Given the description of an element on the screen output the (x, y) to click on. 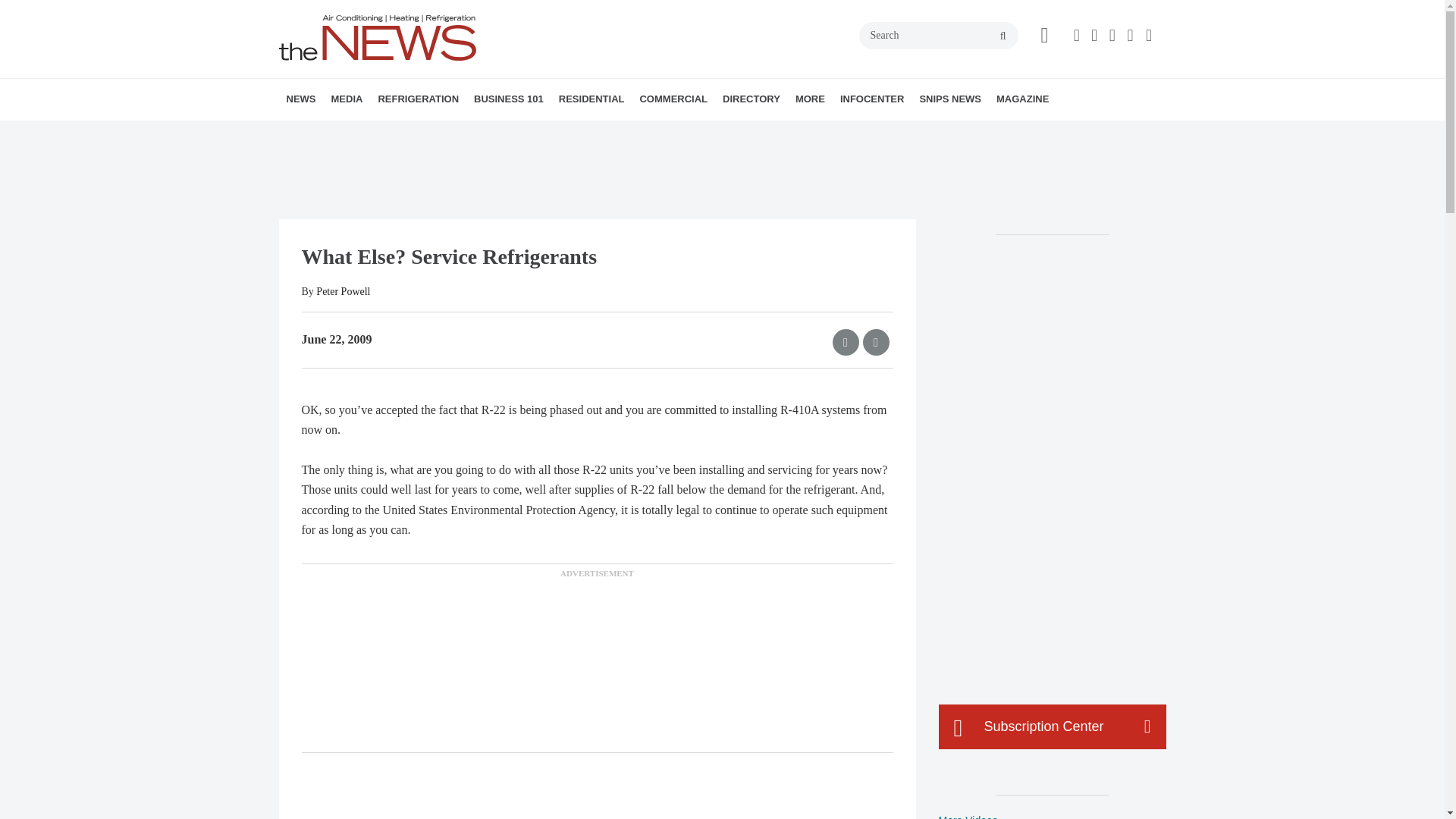
NEW HVAC PRODUCTS (380, 132)
MEDIA (346, 98)
MANUFACTURER REPORTS (386, 132)
search (1002, 36)
REFRIGERATION (417, 98)
REFRIGERANTS (464, 132)
EBOOKS (442, 132)
Search (938, 35)
BREAKING NEWS (373, 132)
ONLINE POLL (452, 132)
